Given the description of an element on the screen output the (x, y) to click on. 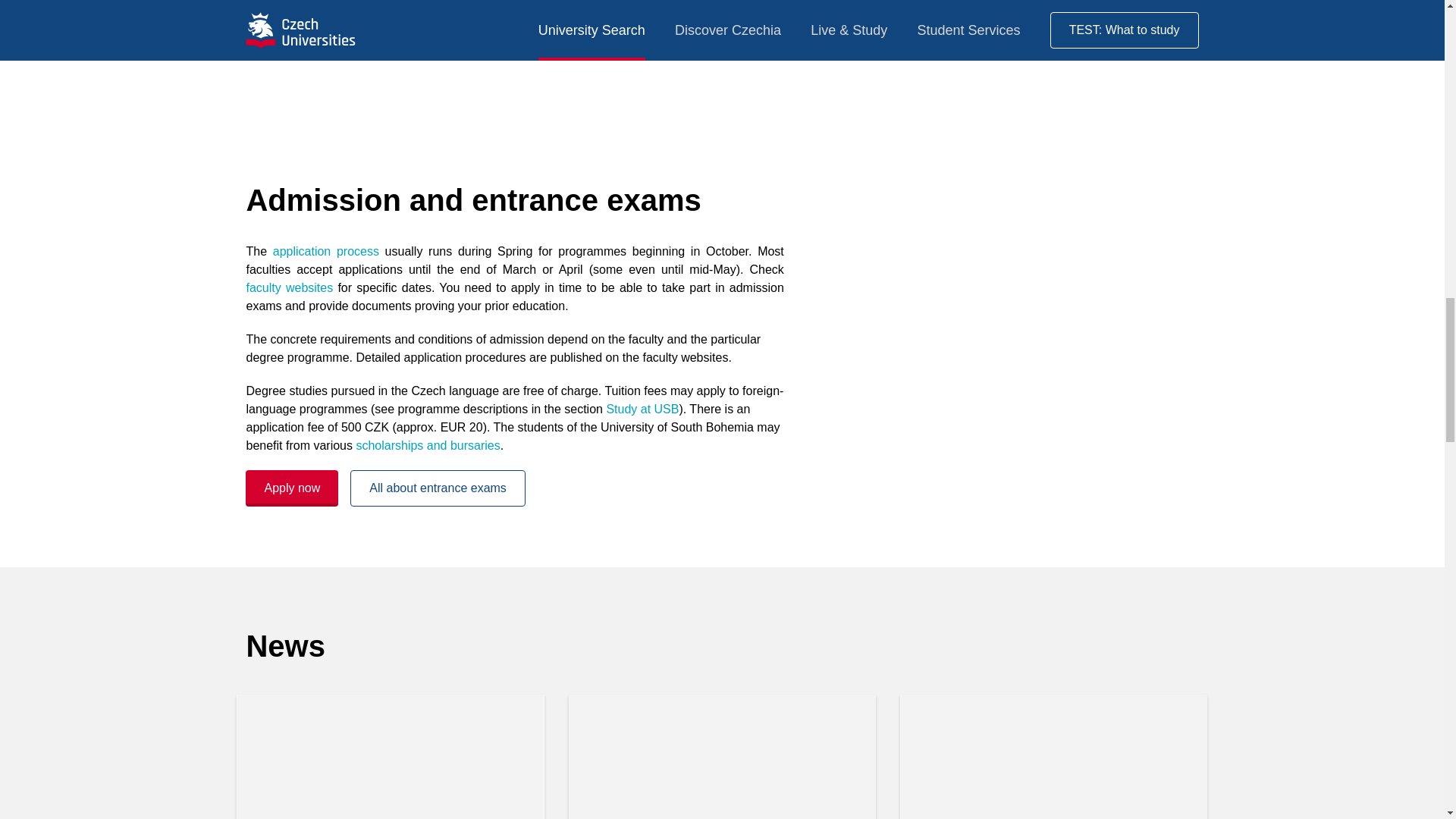
application process (325, 250)
faculty websites (289, 287)
Next 4 photos (721, 42)
